Given the description of an element on the screen output the (x, y) to click on. 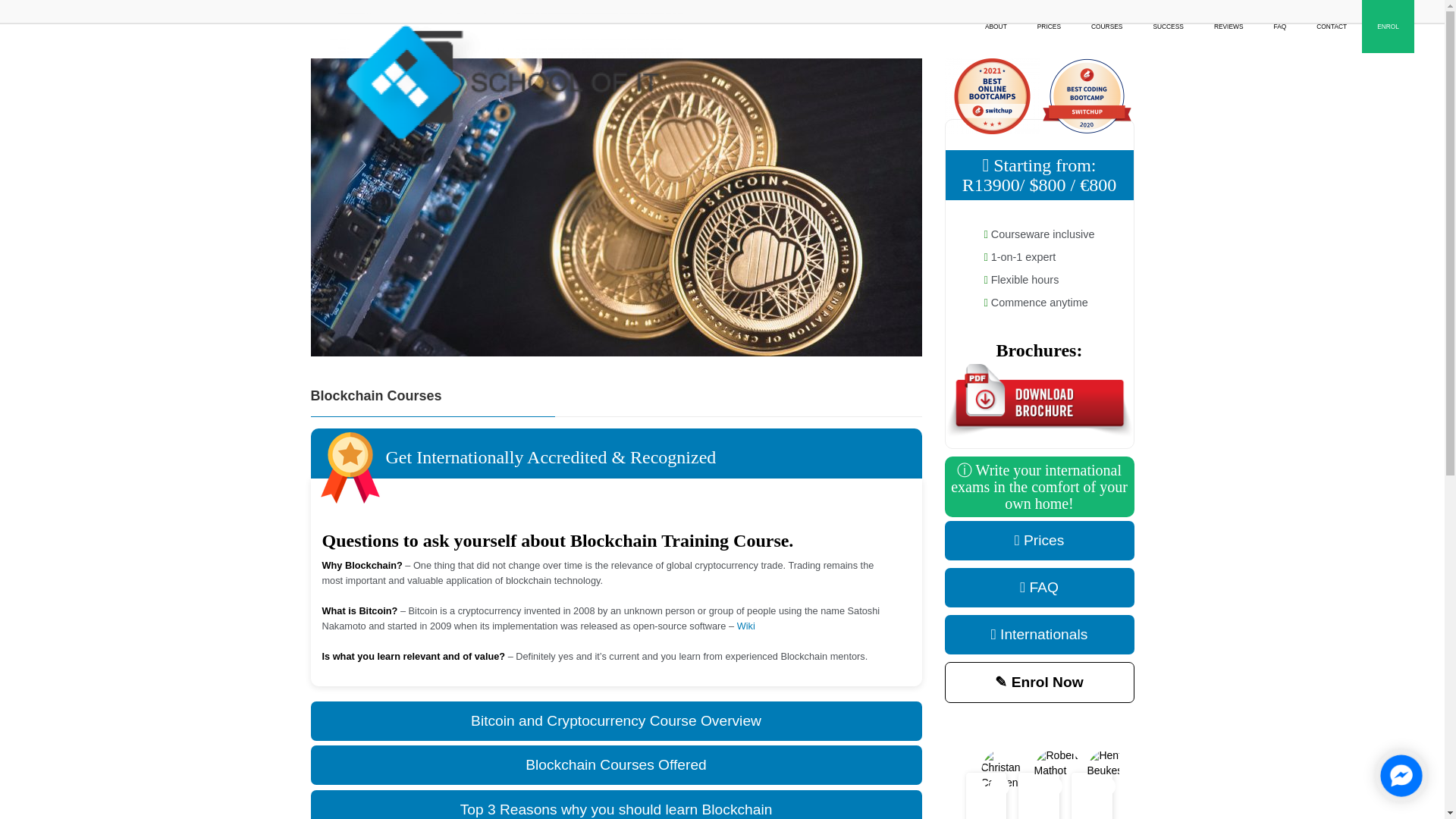
REVIEWS (1228, 26)
PRICES (1048, 26)
ENROL (1387, 26)
CONTACT (1331, 26)
ABOUT (995, 26)
Bitcoin and Cryptocurrency Course Overview (616, 721)
Wiki (745, 625)
Blockchain Courses Offered (616, 764)
SUCCESS (1167, 26)
Top 3 Reasons why you should learn Blockchain (616, 804)
